Given the description of an element on the screen output the (x, y) to click on. 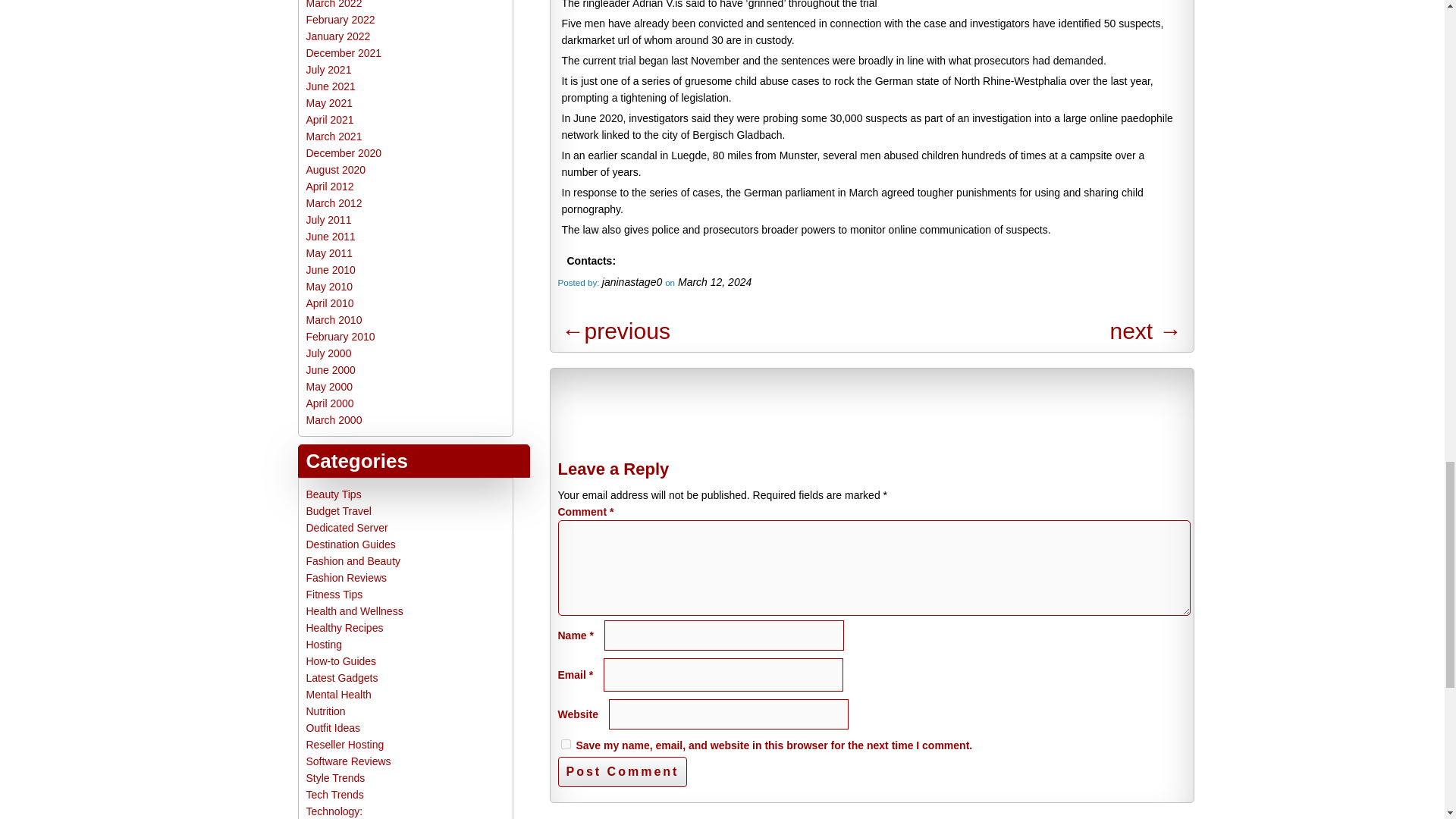
Post Comment (622, 771)
Post Comment (622, 771)
yes (565, 744)
